Given the description of an element on the screen output the (x, y) to click on. 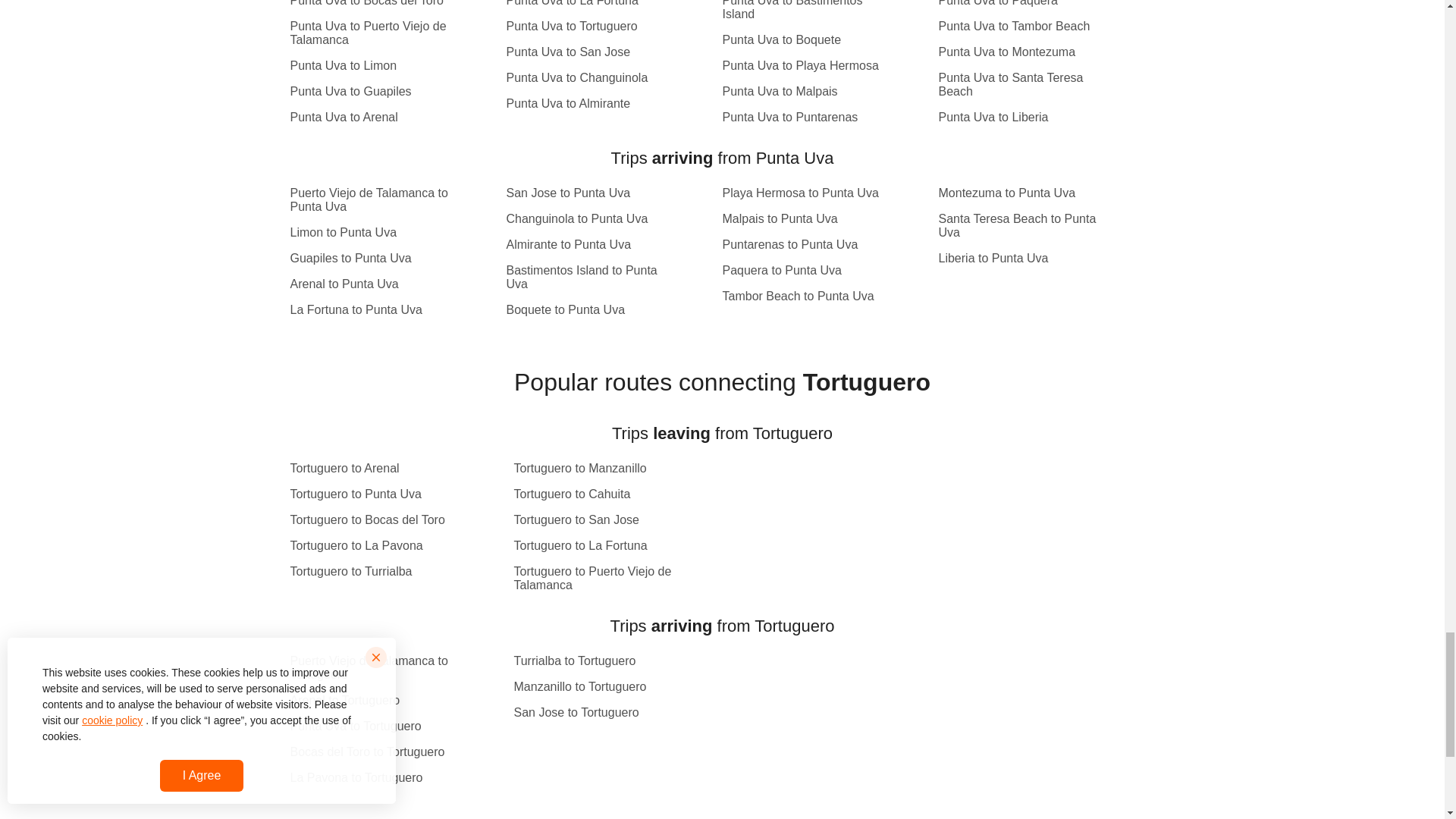
Punta Uva to Puerto Viejo de Talamanca (374, 32)
Punta Uva to Limon (374, 65)
Punta Uva to Bocas del Toro (374, 3)
